Given the description of an element on the screen output the (x, y) to click on. 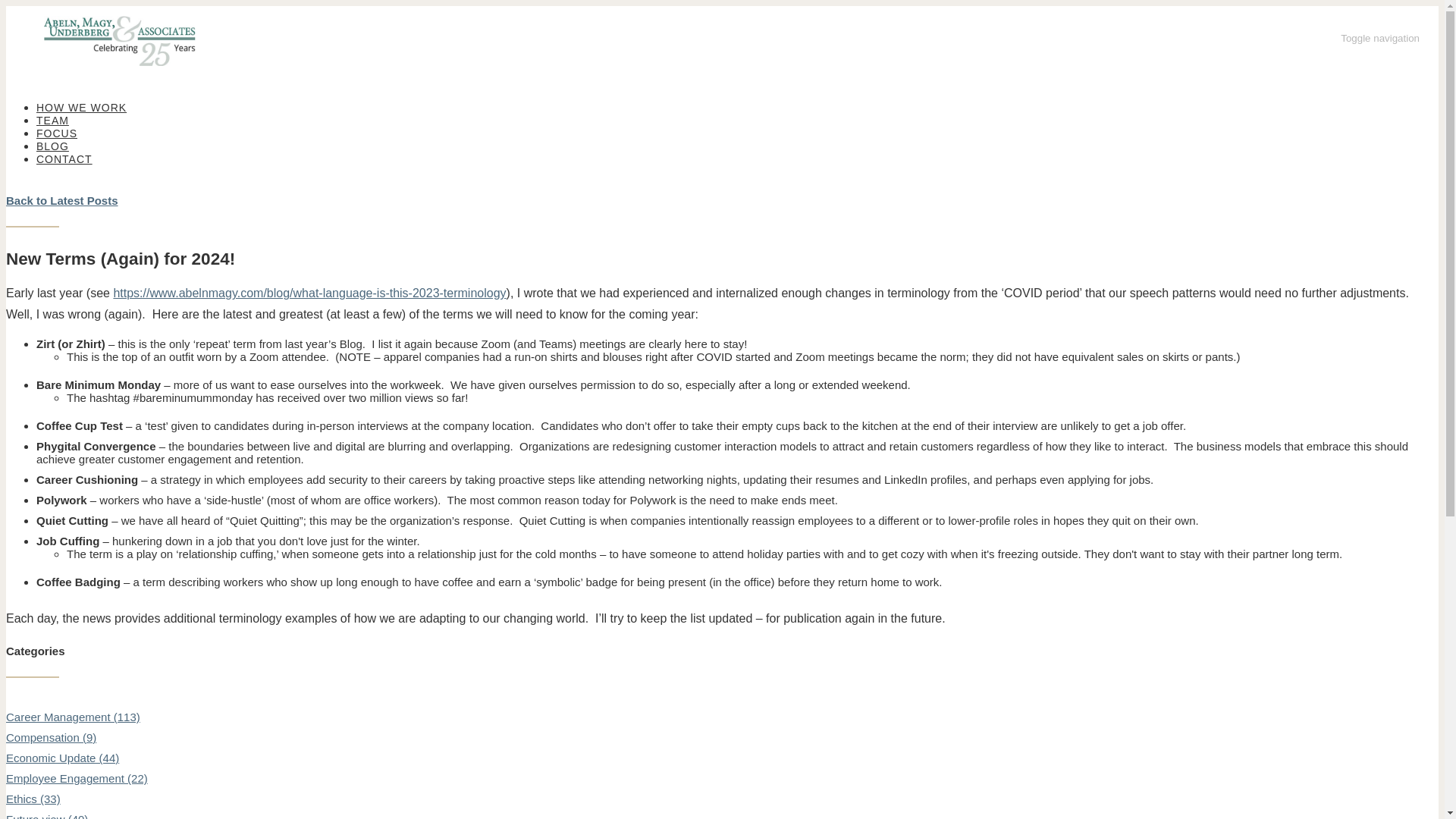
FOCUS (56, 133)
CONTACT (64, 159)
HOW WE WORK (81, 107)
Back to Latest Posts (61, 200)
Toggle navigation (1379, 37)
BLOG (52, 146)
TEAM (52, 120)
